Given the description of an element on the screen output the (x, y) to click on. 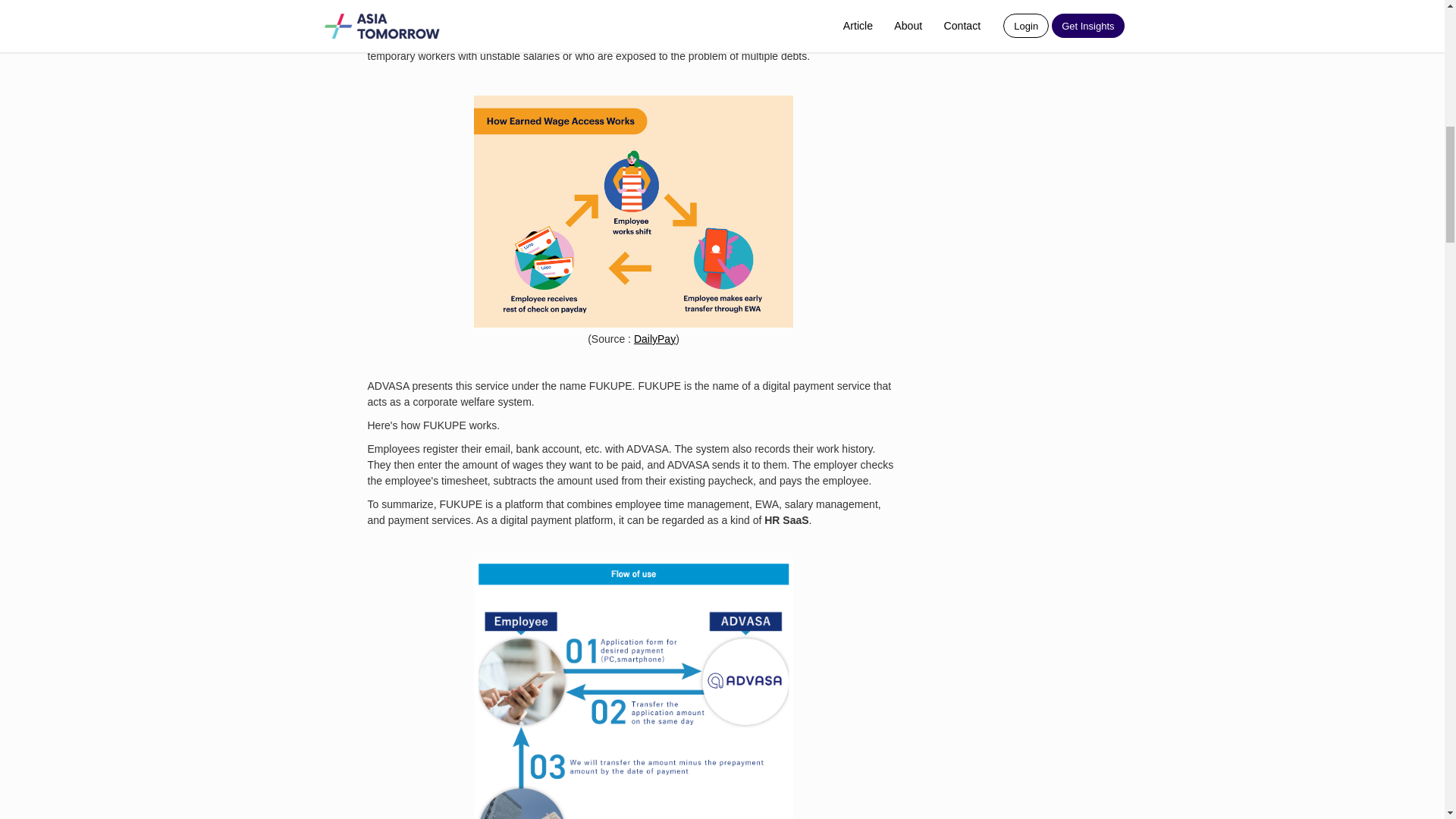
DailyPay (654, 338)
ADVASA (449, 24)
